Given the description of an element on the screen output the (x, y) to click on. 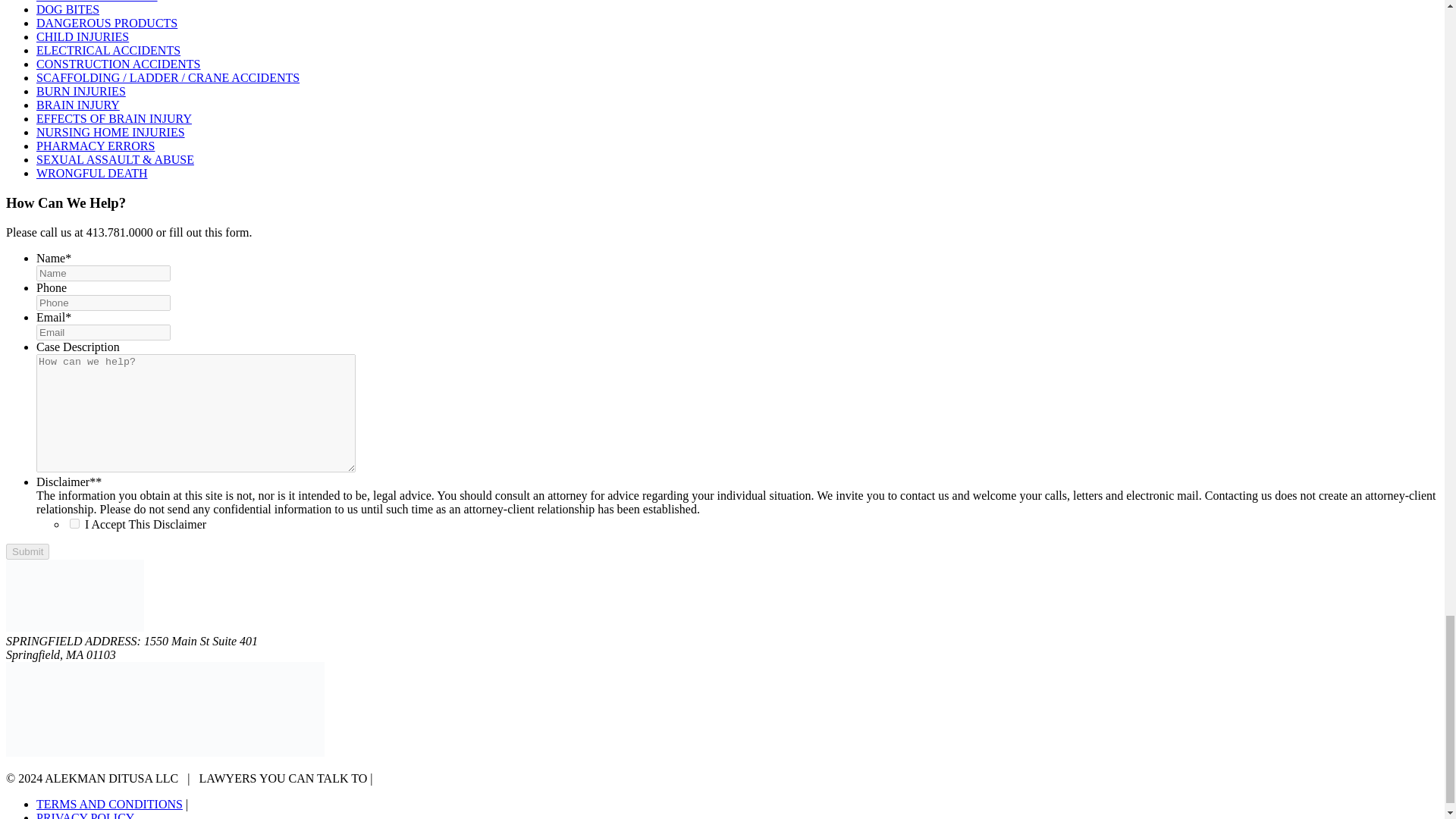
I Accept This Disclaimer (74, 523)
Submit (27, 551)
